Given the description of an element on the screen output the (x, y) to click on. 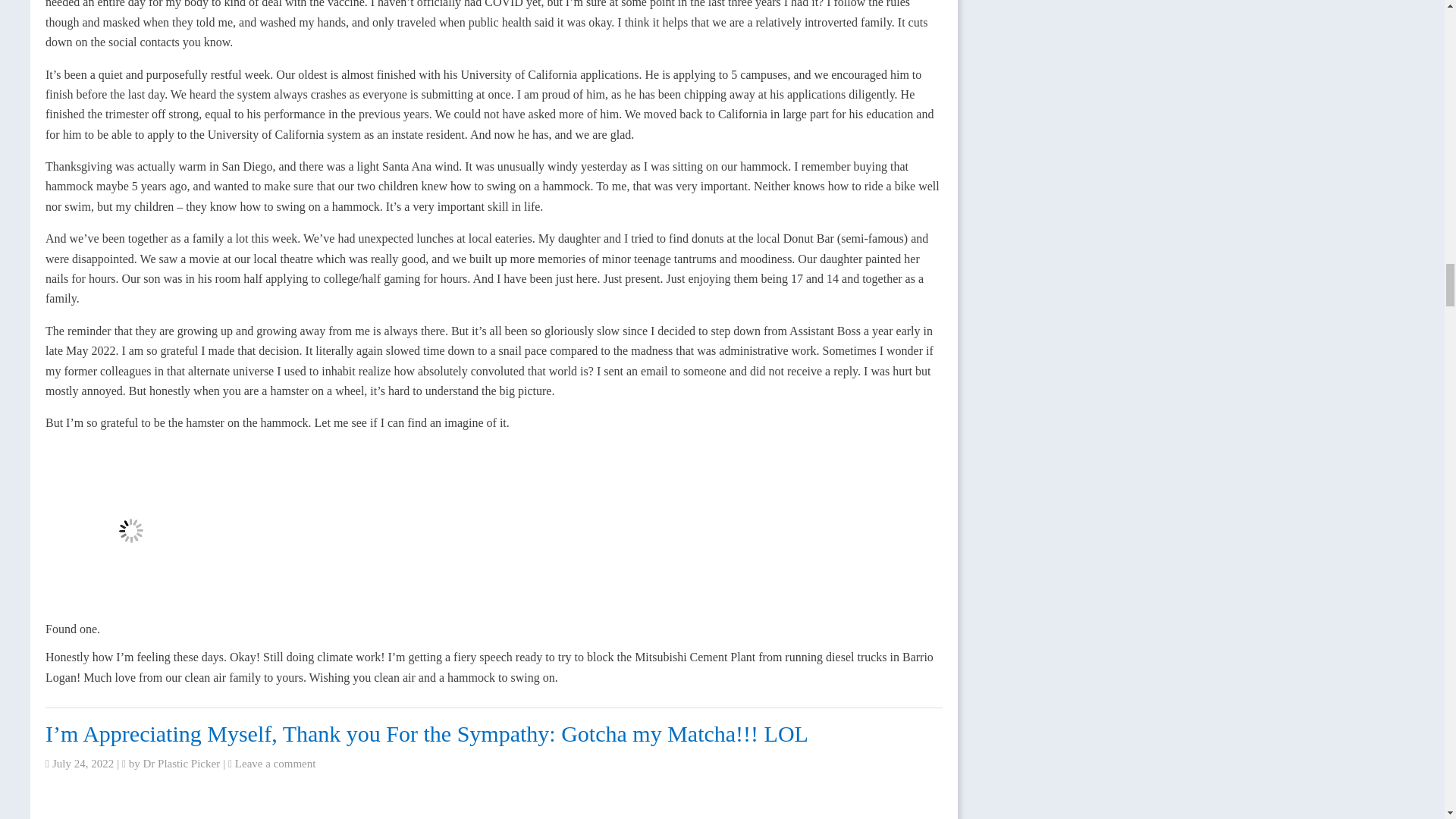
Dr Plastic Picker (181, 763)
Leave a comment (274, 763)
